Given the description of an element on the screen output the (x, y) to click on. 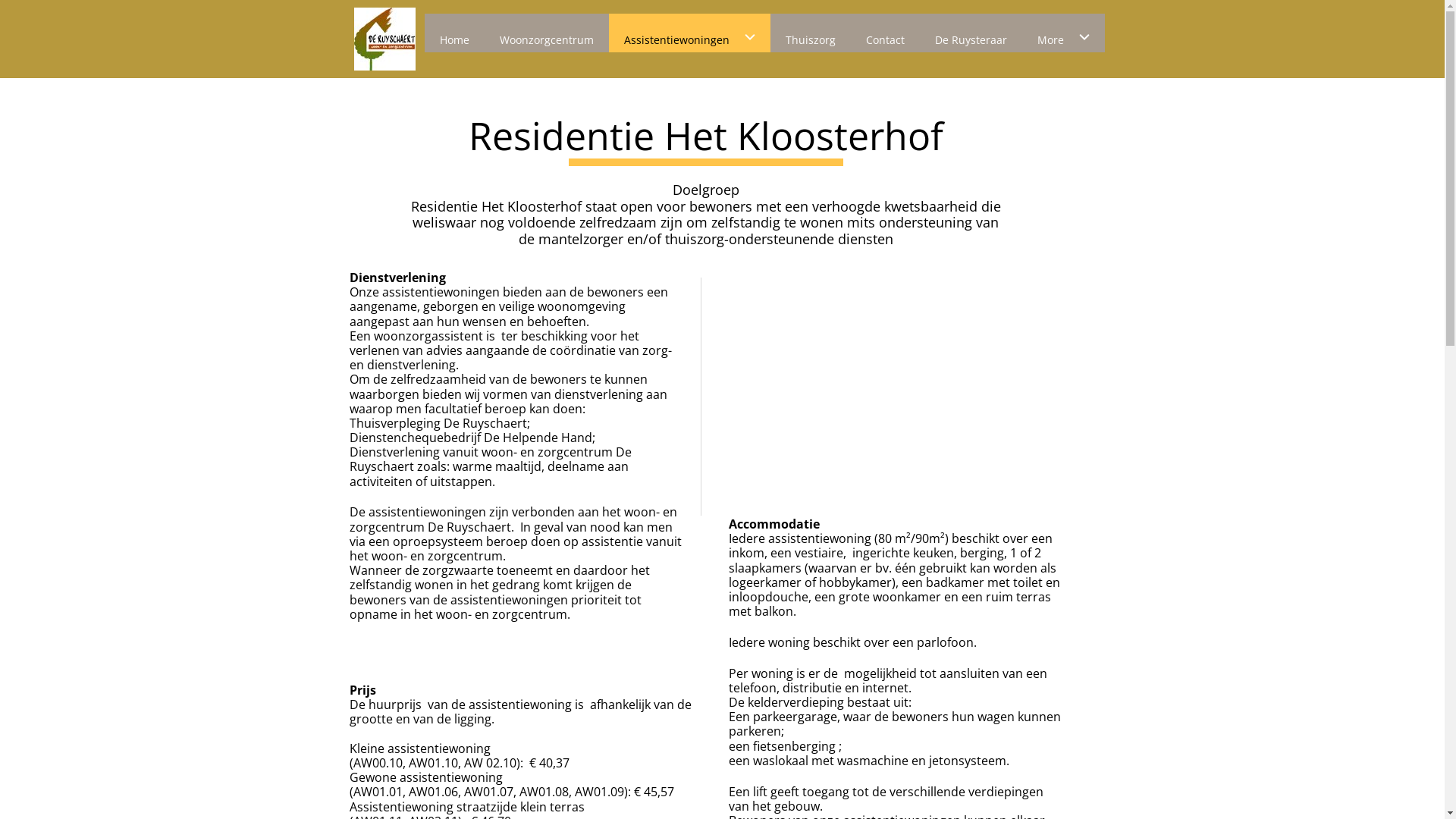
Home Element type: text (454, 32)
More Element type: text (1063, 32)
De Ruysteraar Element type: text (970, 32)
Woonzorgcentrum Element type: text (545, 32)
Assistentiewoningen Element type: text (688, 32)
Contact Element type: text (884, 32)
Thuiszorg Element type: text (810, 32)
